Given the description of an element on the screen output the (x, y) to click on. 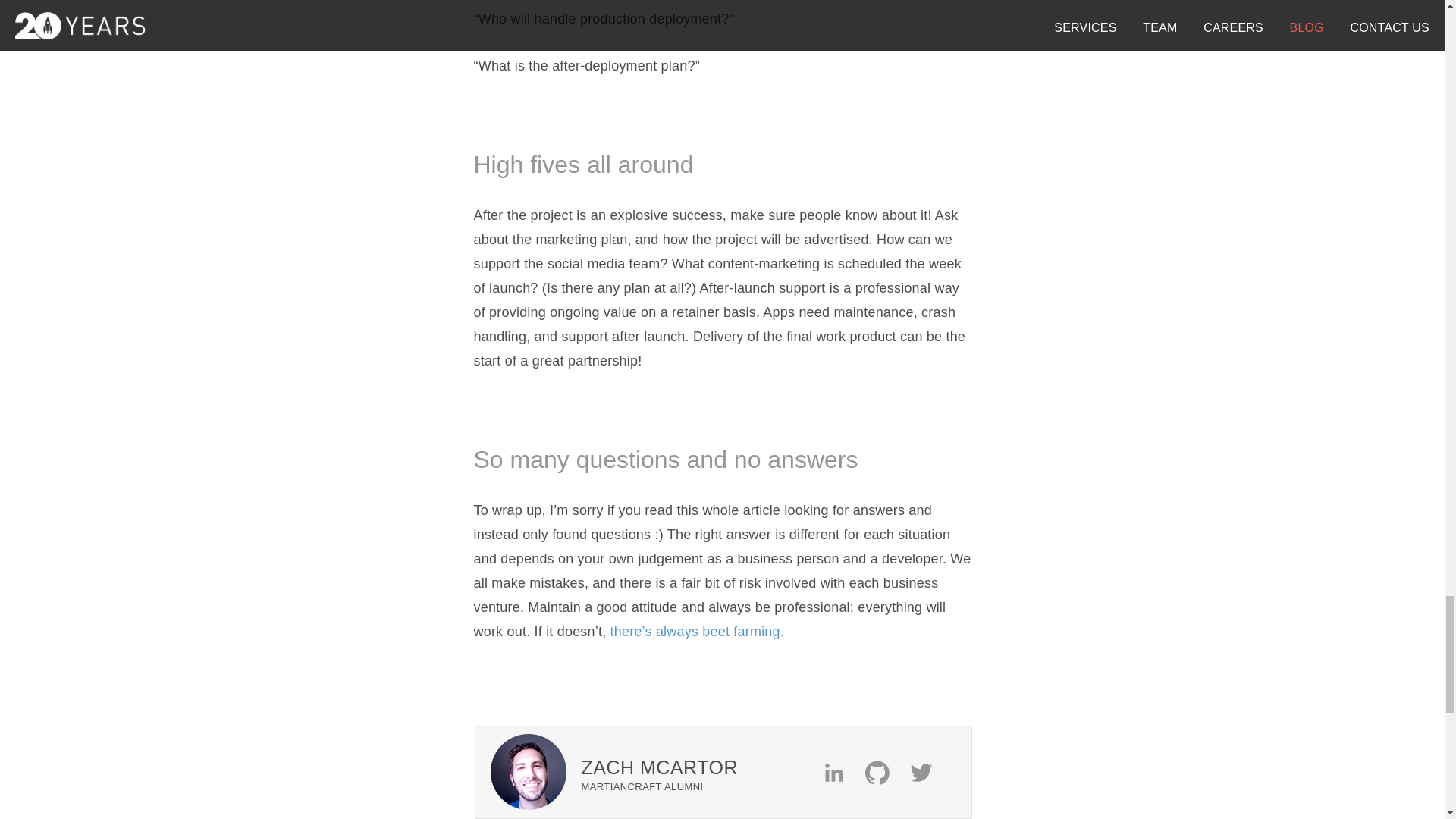
social-github (884, 772)
social-github (886, 771)
